Given the description of an element on the screen output the (x, y) to click on. 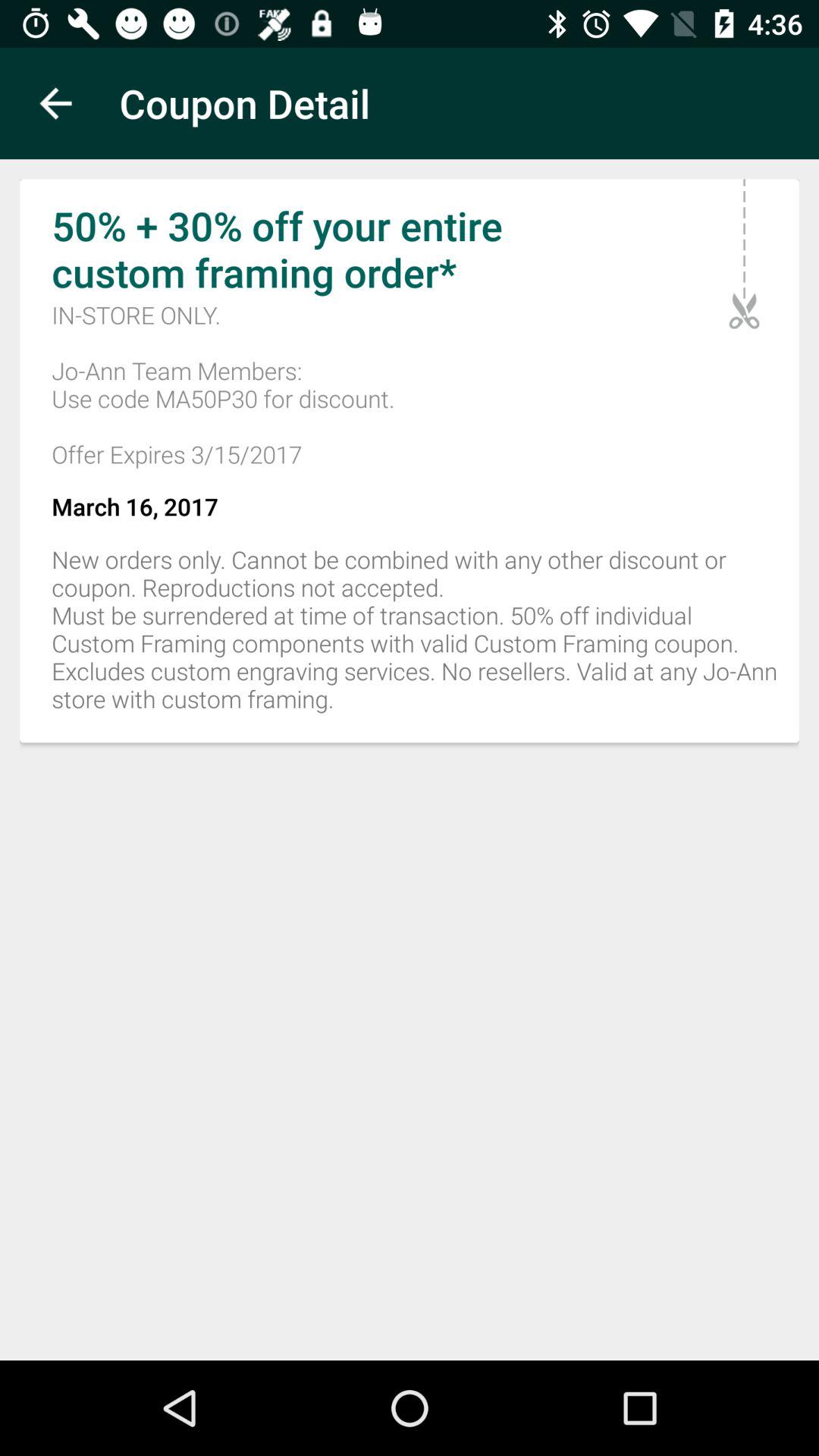
select icon at the center (409, 637)
